Given the description of an element on the screen output the (x, y) to click on. 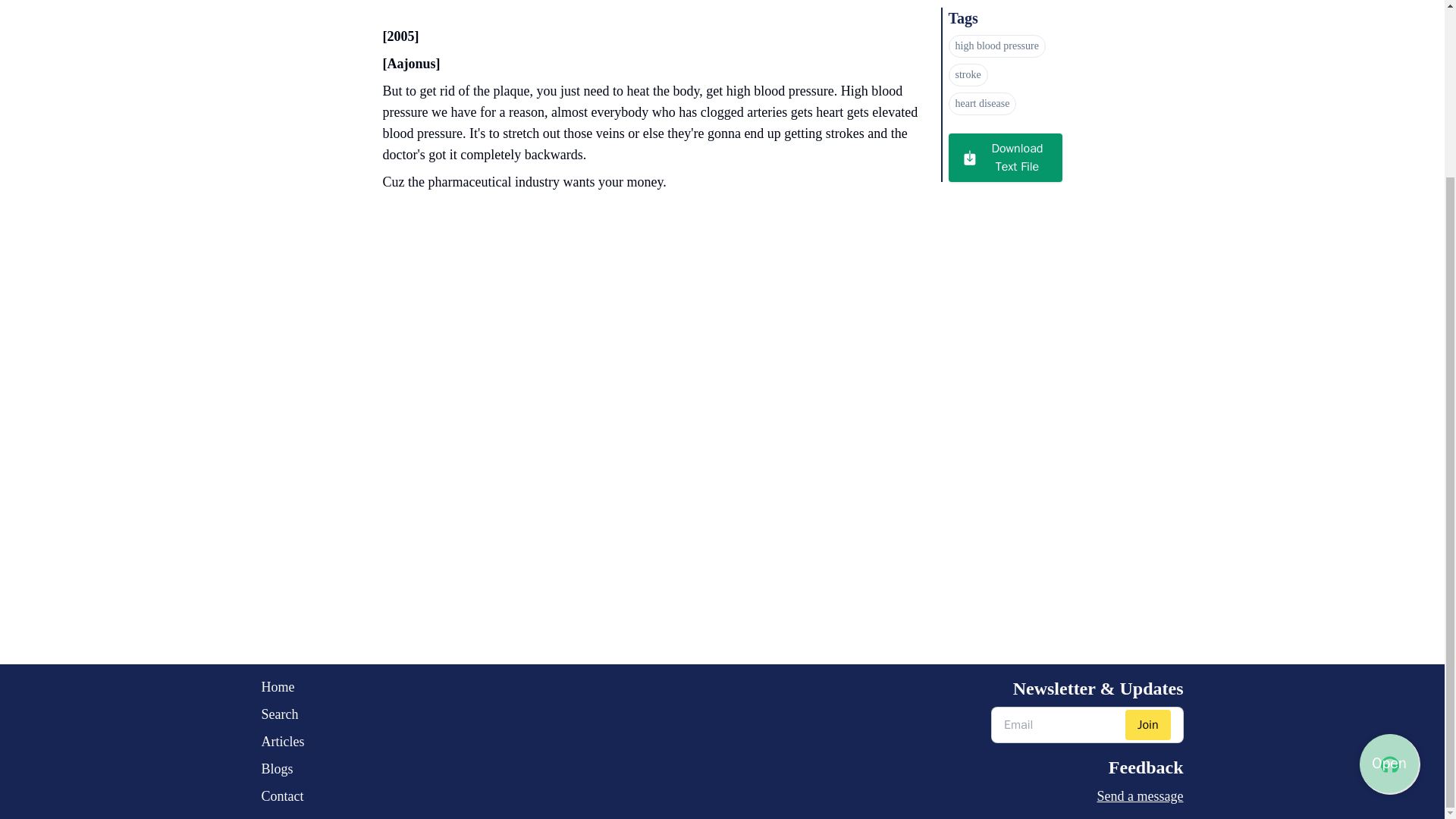
Search (282, 713)
Send a message (1086, 795)
Download Text File (1004, 157)
Blogs (282, 768)
Articles (282, 741)
Home (282, 686)
Join (1147, 725)
Contact (282, 795)
